Given the description of an element on the screen output the (x, y) to click on. 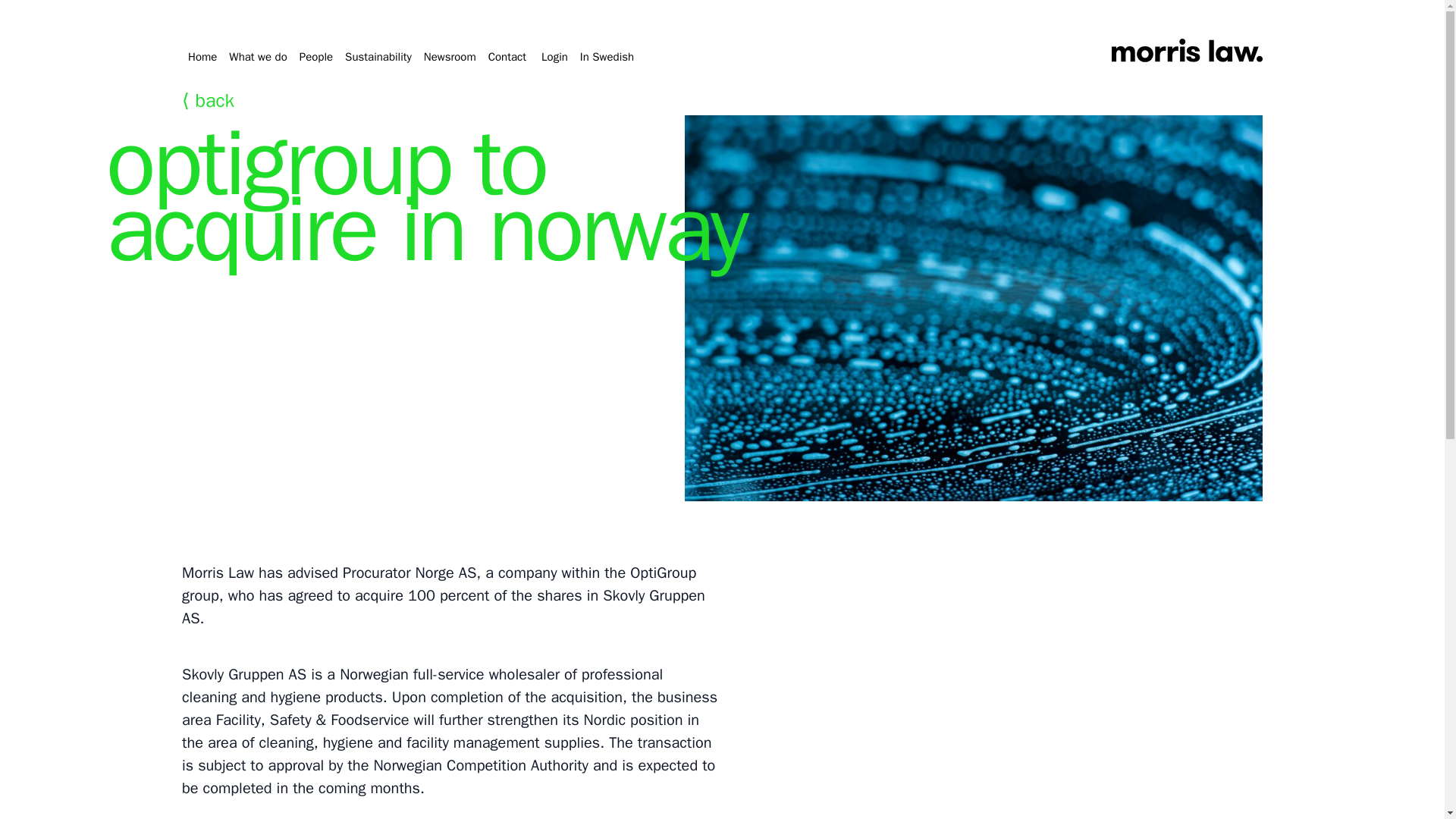
What we do (257, 56)
Login (554, 56)
People (316, 56)
Morris Law (1186, 53)
Newsroom (449, 56)
Contact (506, 56)
Sustainability (378, 56)
Home (201, 56)
In Swedish (606, 56)
